Given the description of an element on the screen output the (x, y) to click on. 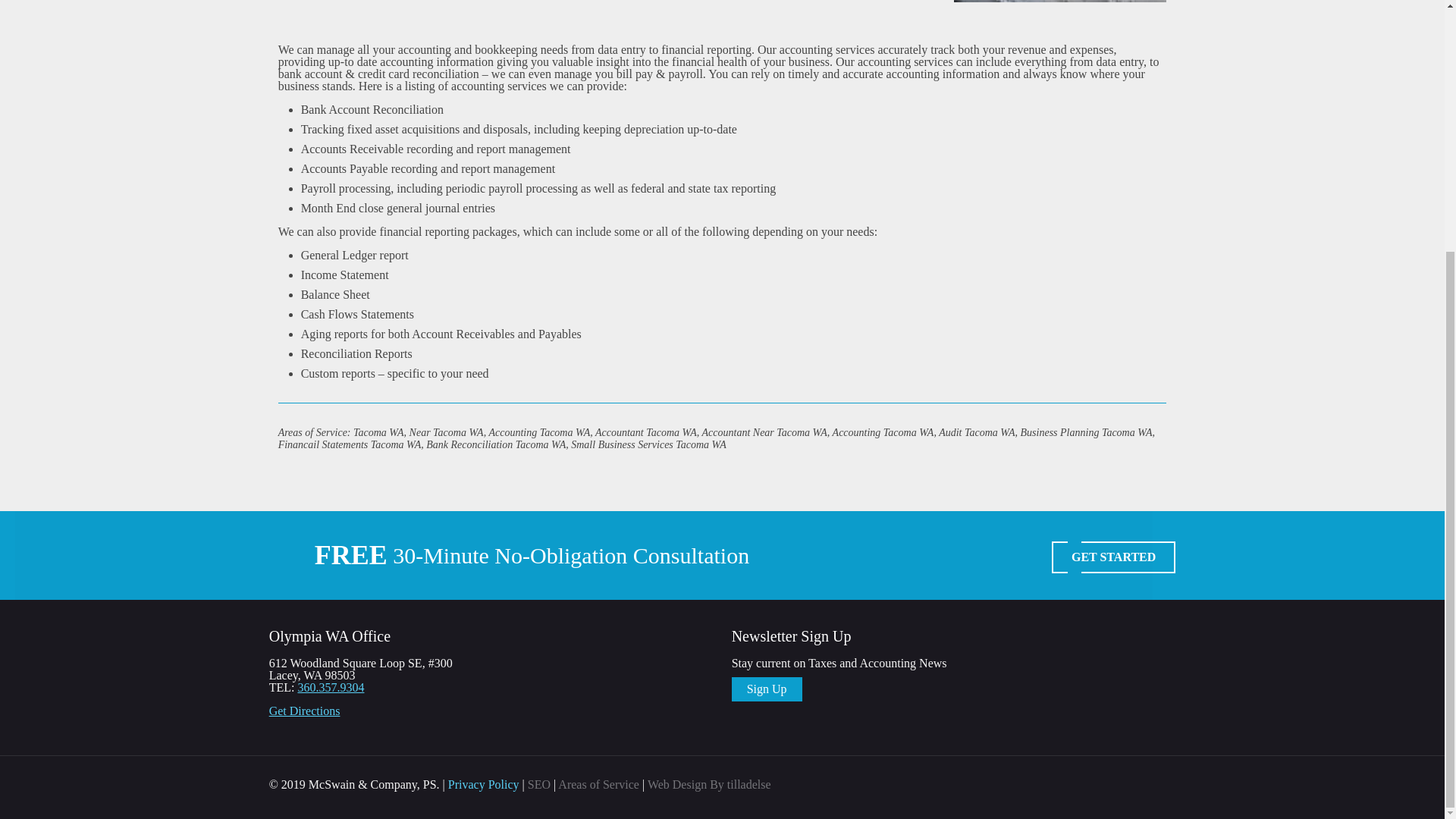
360.357.9304 (330, 686)
Get Directions (304, 710)
Accountant Near Tacoma WA (1059, 1)
Sign Up (767, 689)
GET STARTED (1112, 557)
